Given the description of an element on the screen output the (x, y) to click on. 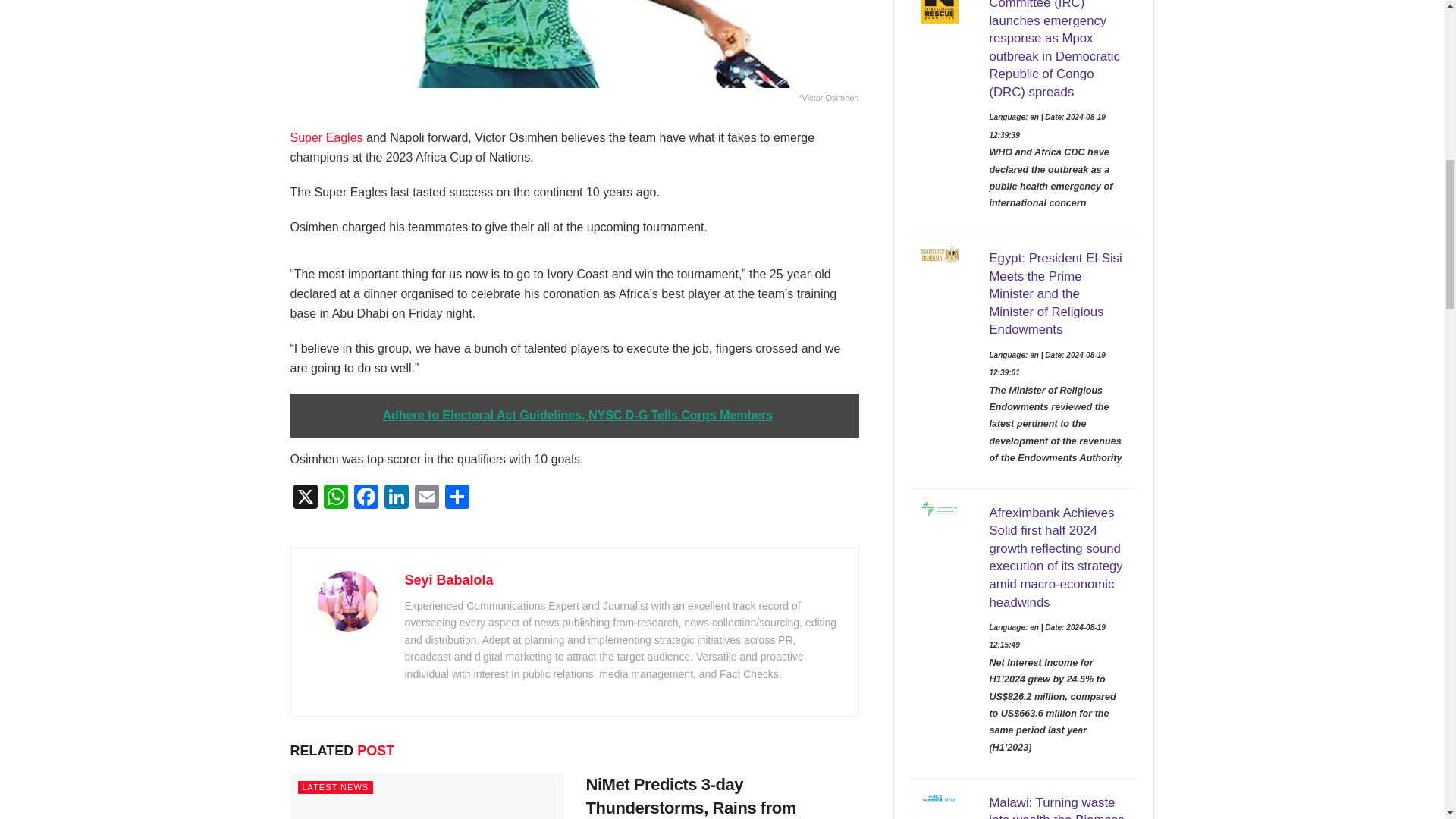
LinkedIn (395, 498)
Email (425, 498)
X (304, 498)
WhatsApp (335, 498)
Facebook (365, 498)
